Given the description of an element on the screen output the (x, y) to click on. 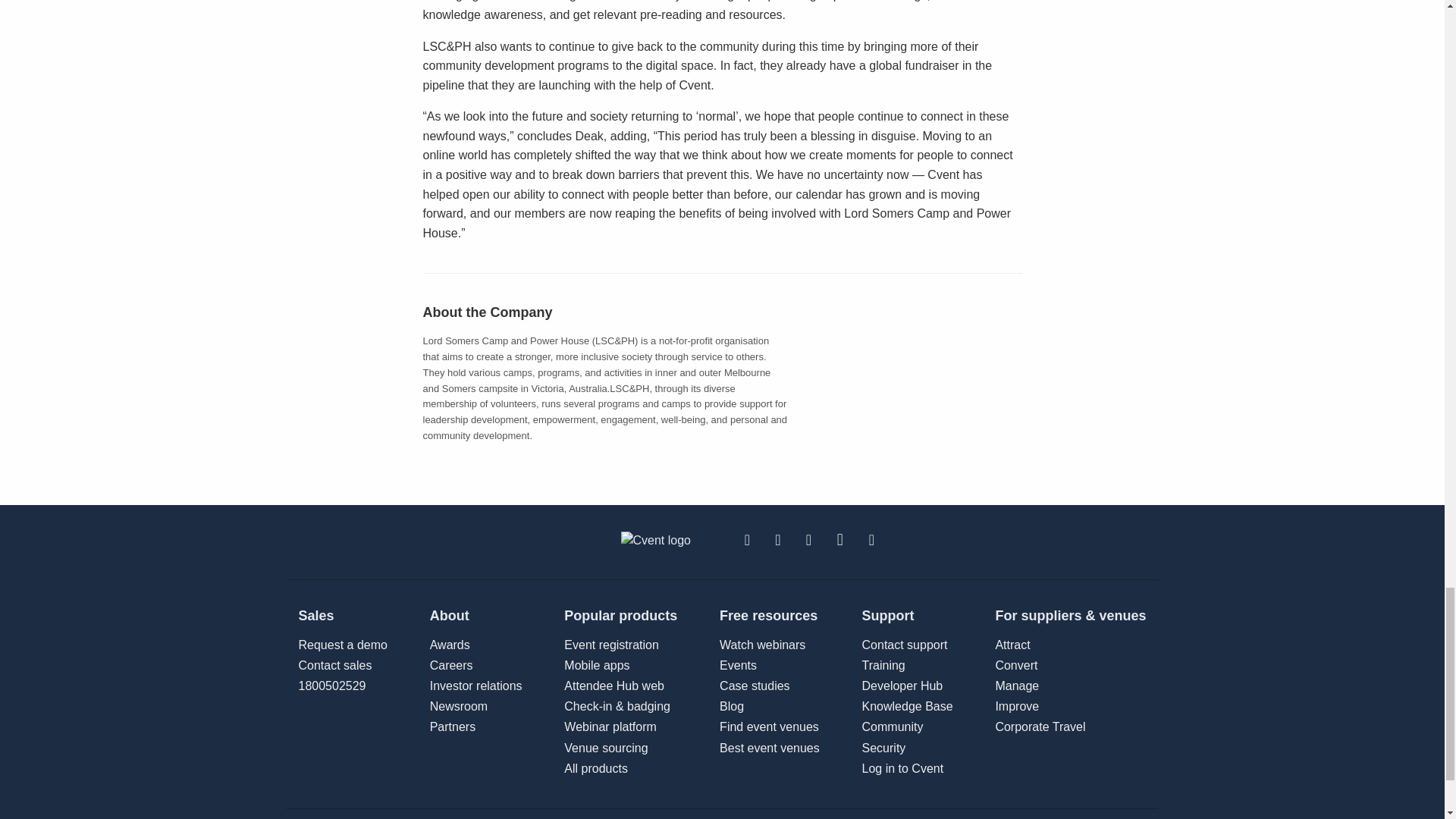
Partners (883, 665)
Sales (342, 615)
Popular products (620, 615)
